Given the description of an element on the screen output the (x, y) to click on. 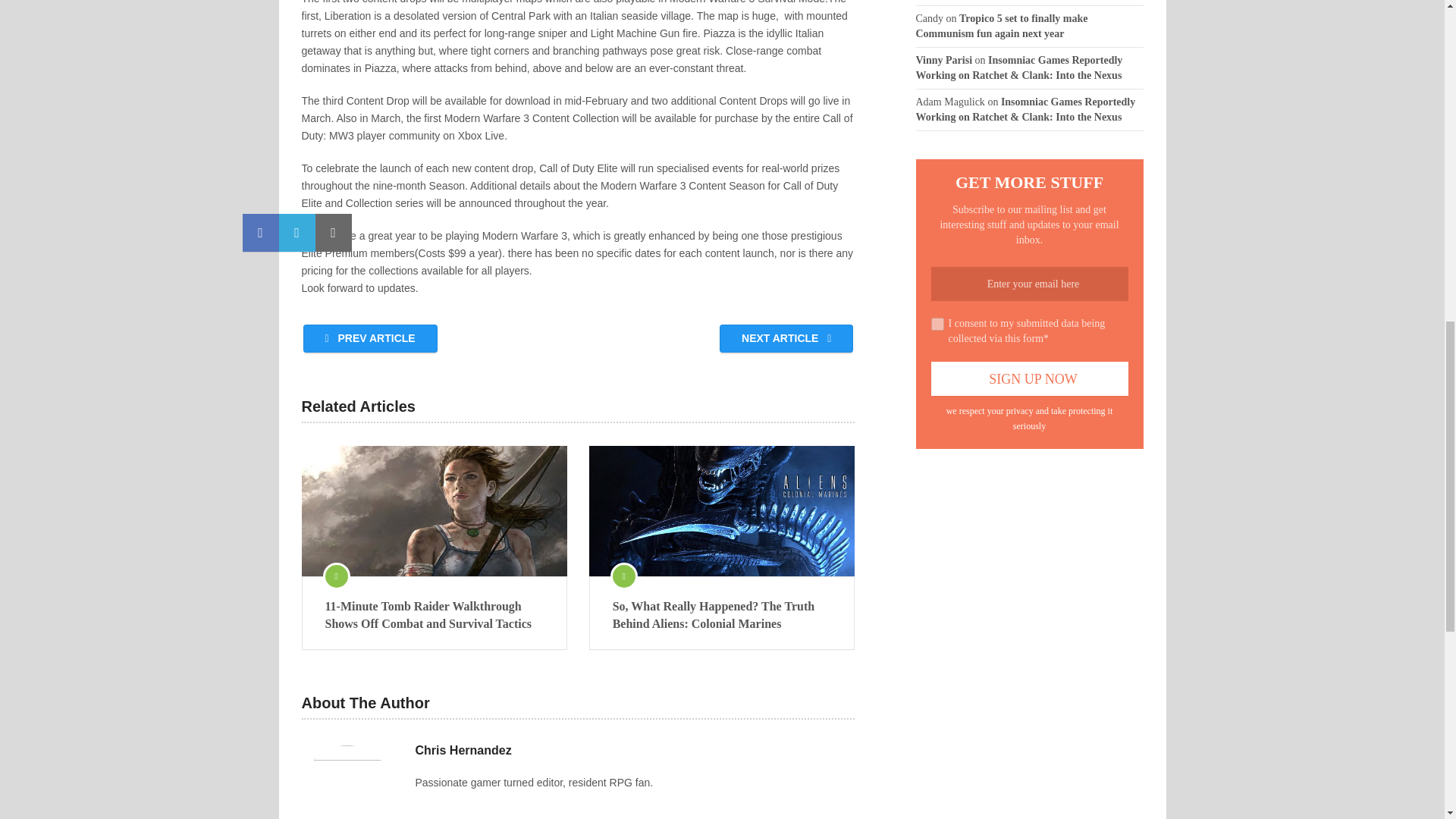
on (937, 323)
Sign Up Now (1029, 378)
PREV ARTICLE (370, 338)
NEXT ARTICLE (786, 338)
